Given the description of an element on the screen output the (x, y) to click on. 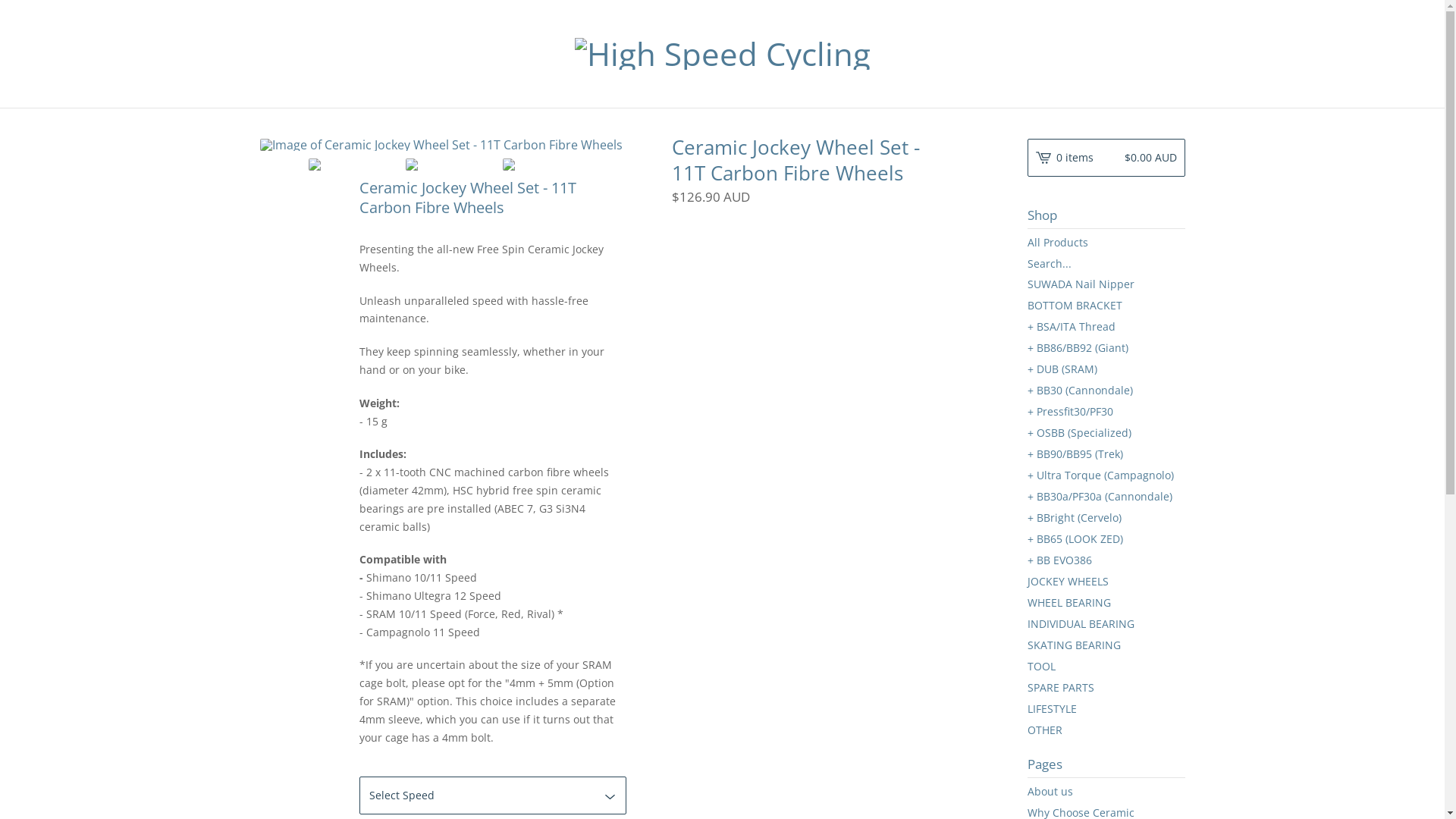
+ Ultra Torque (Campagnolo) Element type: text (1105, 475)
+ BB30 (Cannondale) Element type: text (1105, 390)
+ BB86/BB92 (Giant) Element type: text (1105, 347)
TOOL Element type: text (1105, 666)
All Products Element type: text (1105, 242)
JOCKEY WHEELS Element type: text (1105, 581)
WHEEL BEARING Element type: text (1105, 602)
+ DUB (SRAM) Element type: text (1105, 368)
0 items
$0.00 AUD Element type: text (1105, 157)
INDIVIDUAL BEARING Element type: text (1105, 623)
+ BB65 (LOOK ZED) Element type: text (1105, 538)
OTHER Element type: text (1105, 729)
SUWADA Nail Nipper Element type: text (1105, 283)
LIFESTYLE Element type: text (1105, 708)
+ Pressfit30/PF30 Element type: text (1105, 411)
SPARE PARTS Element type: text (1105, 687)
+ OSBB (Specialized) Element type: text (1105, 432)
+ BB EVO386 Element type: text (1105, 560)
About us Element type: text (1105, 791)
SKATING BEARING Element type: text (1105, 644)
+ BSA/ITA Thread Element type: text (1105, 326)
+ BB30a/PF30a (Cannondale) Element type: text (1105, 496)
High Speed Cycling Element type: hover (722, 53)
+ BB90/BB95 (Trek) Element type: text (1105, 453)
BOTTOM BRACKET Element type: text (1105, 305)
+ BBright (Cervelo) Element type: text (1105, 517)
